Given the description of an element on the screen output the (x, y) to click on. 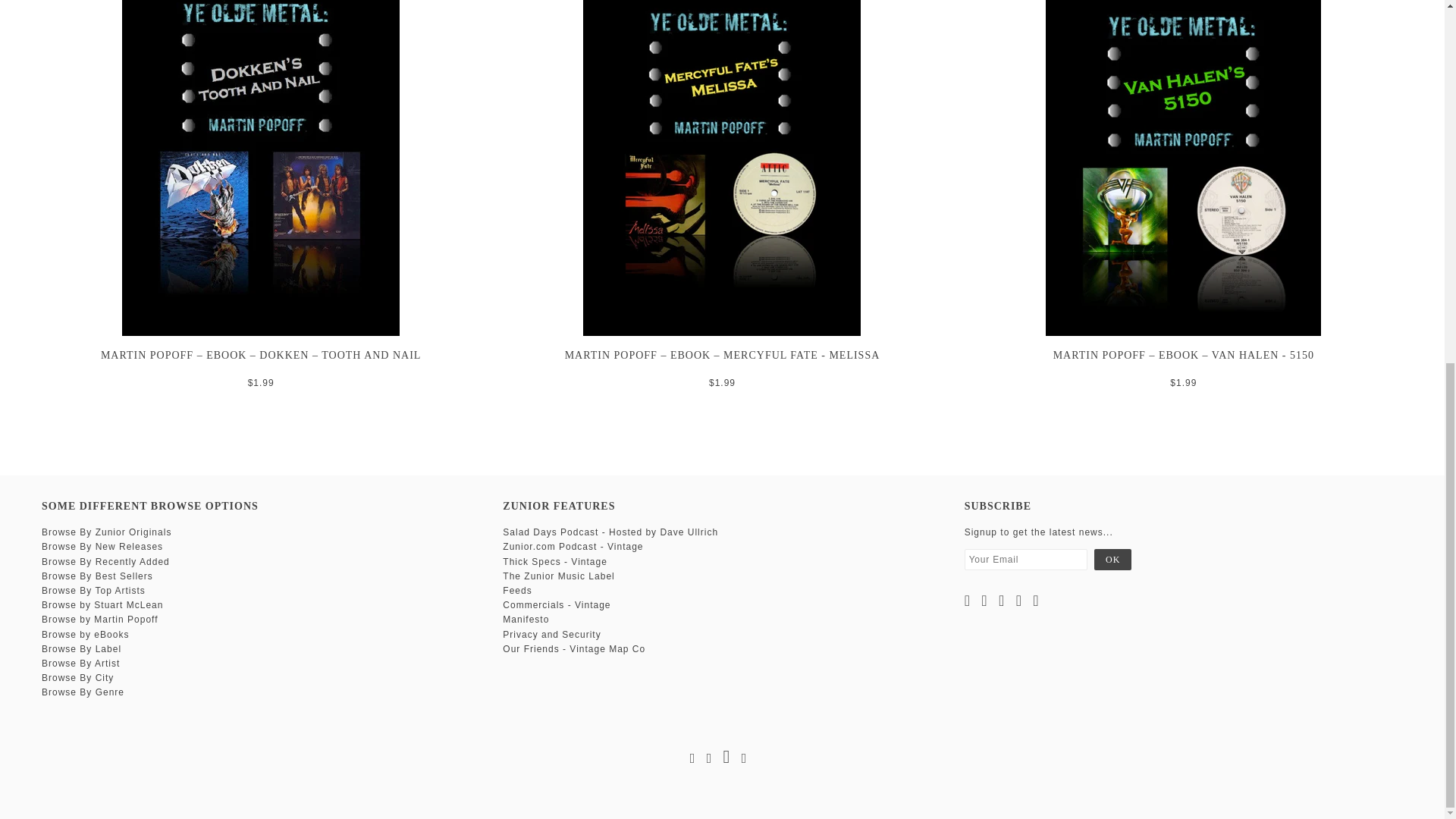
OK (1112, 559)
